Given the description of an element on the screen output the (x, y) to click on. 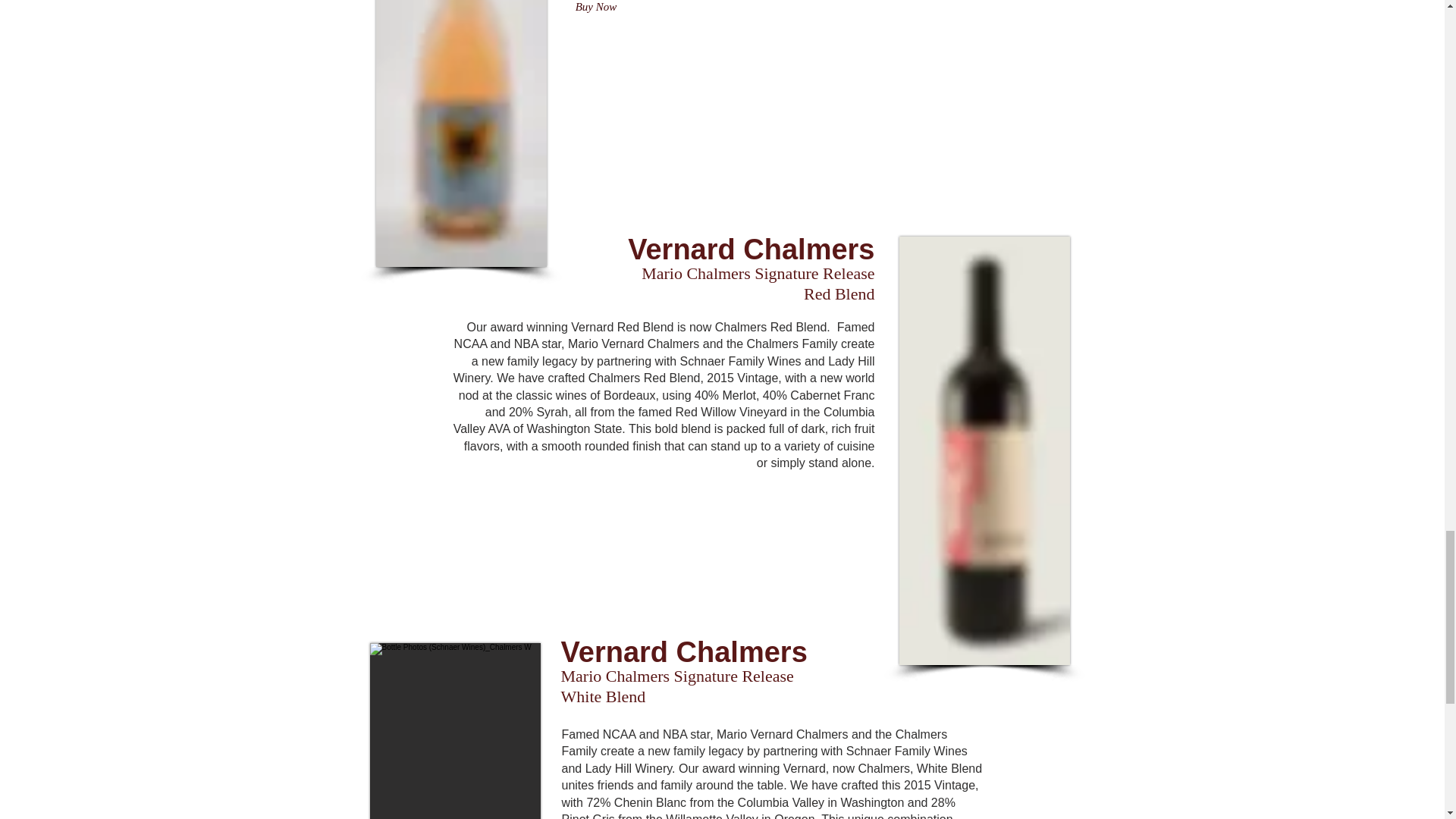
Buy Now (595, 8)
